Given the description of an element on the screen output the (x, y) to click on. 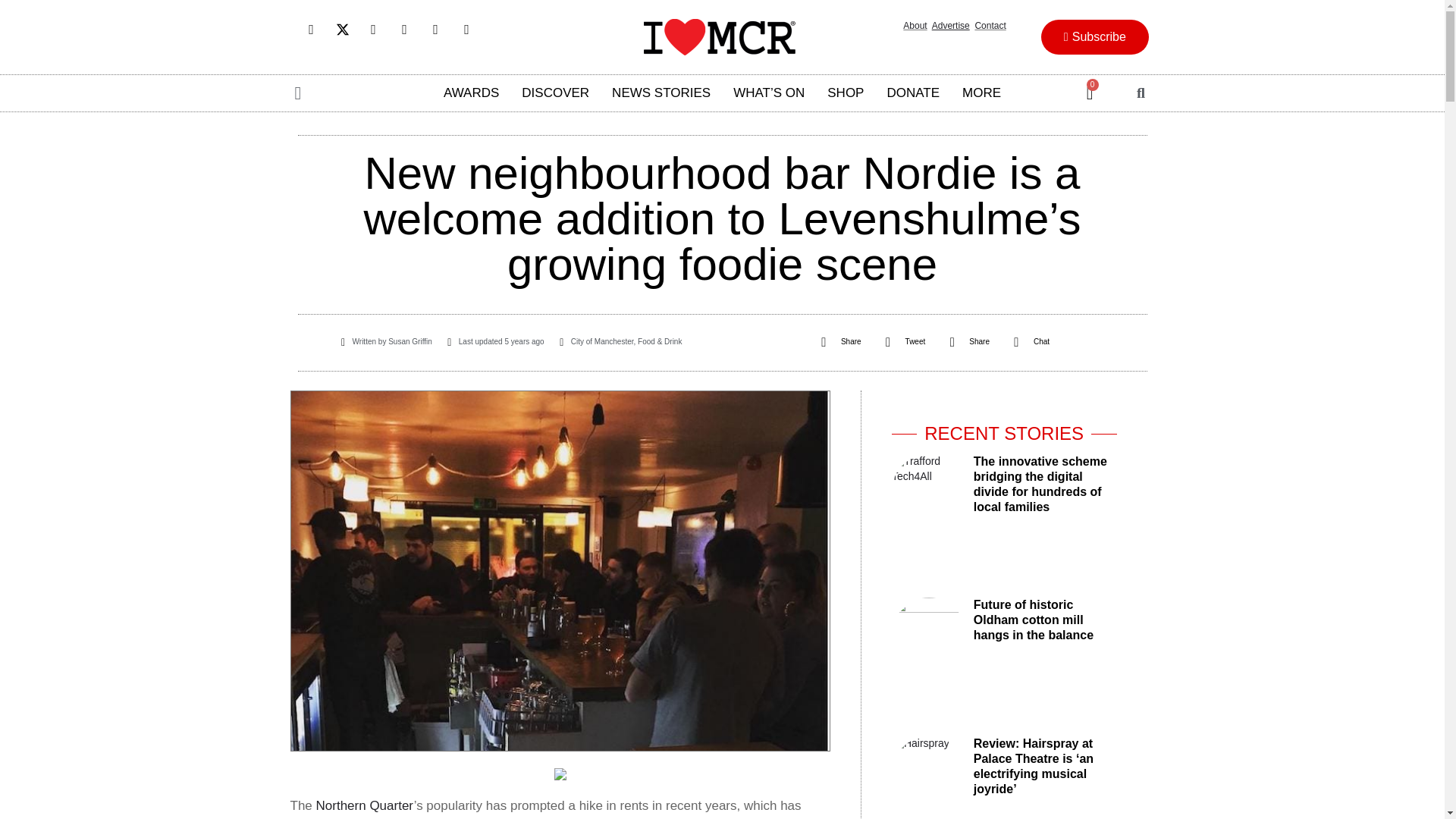
AWARDS (471, 93)
NEWS STORIES (660, 93)
ilovemcr-website-logo 544 (718, 36)
Advertise (950, 25)
Contact (990, 25)
Subscribe (1094, 36)
DISCOVER (555, 93)
About (914, 25)
